Given the description of an element on the screen output the (x, y) to click on. 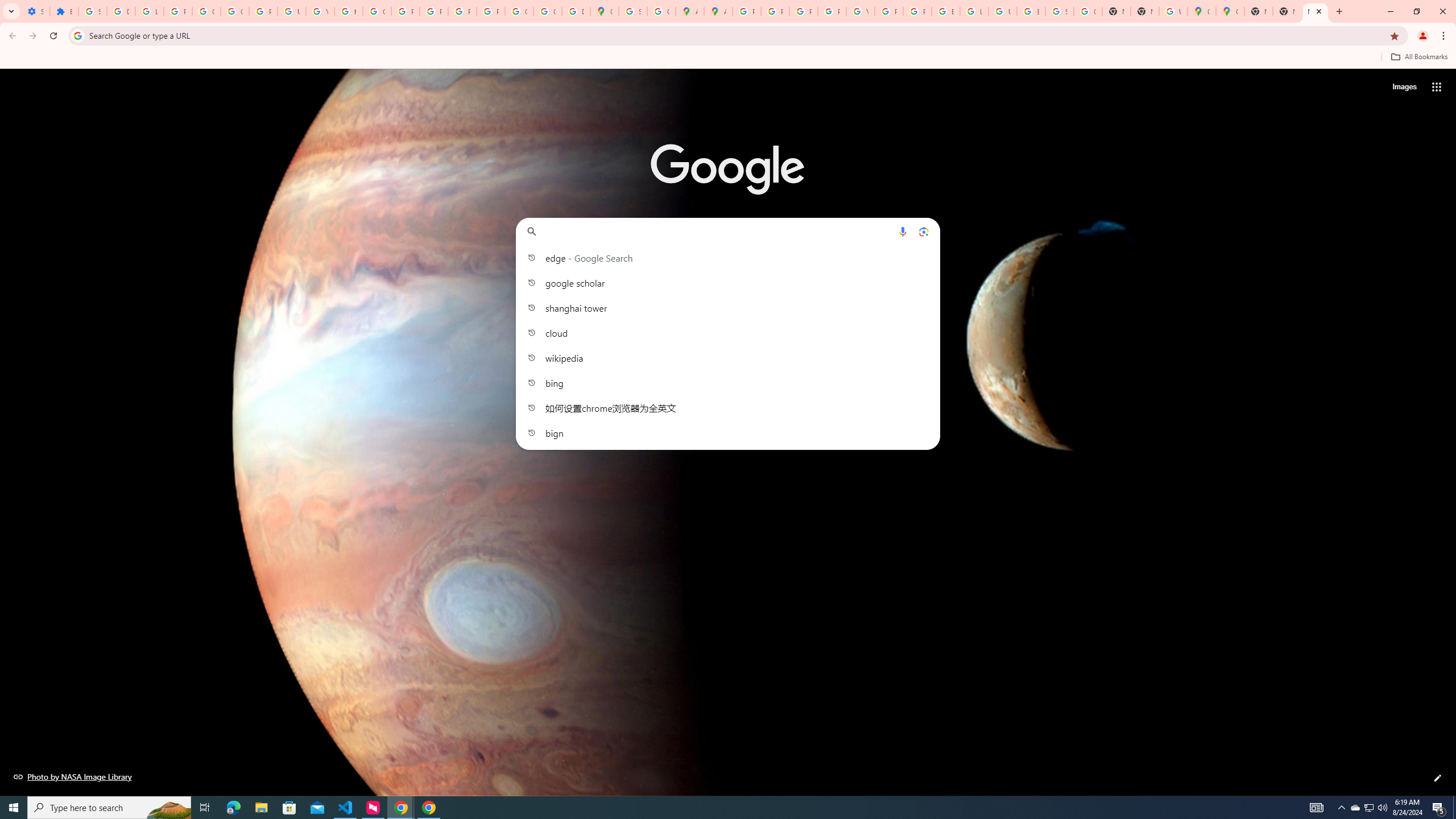
Privacy Help Center - Policies Help (803, 11)
YouTube (860, 11)
Photo by NASA Image Library (72, 776)
